Given the description of an element on the screen output the (x, y) to click on. 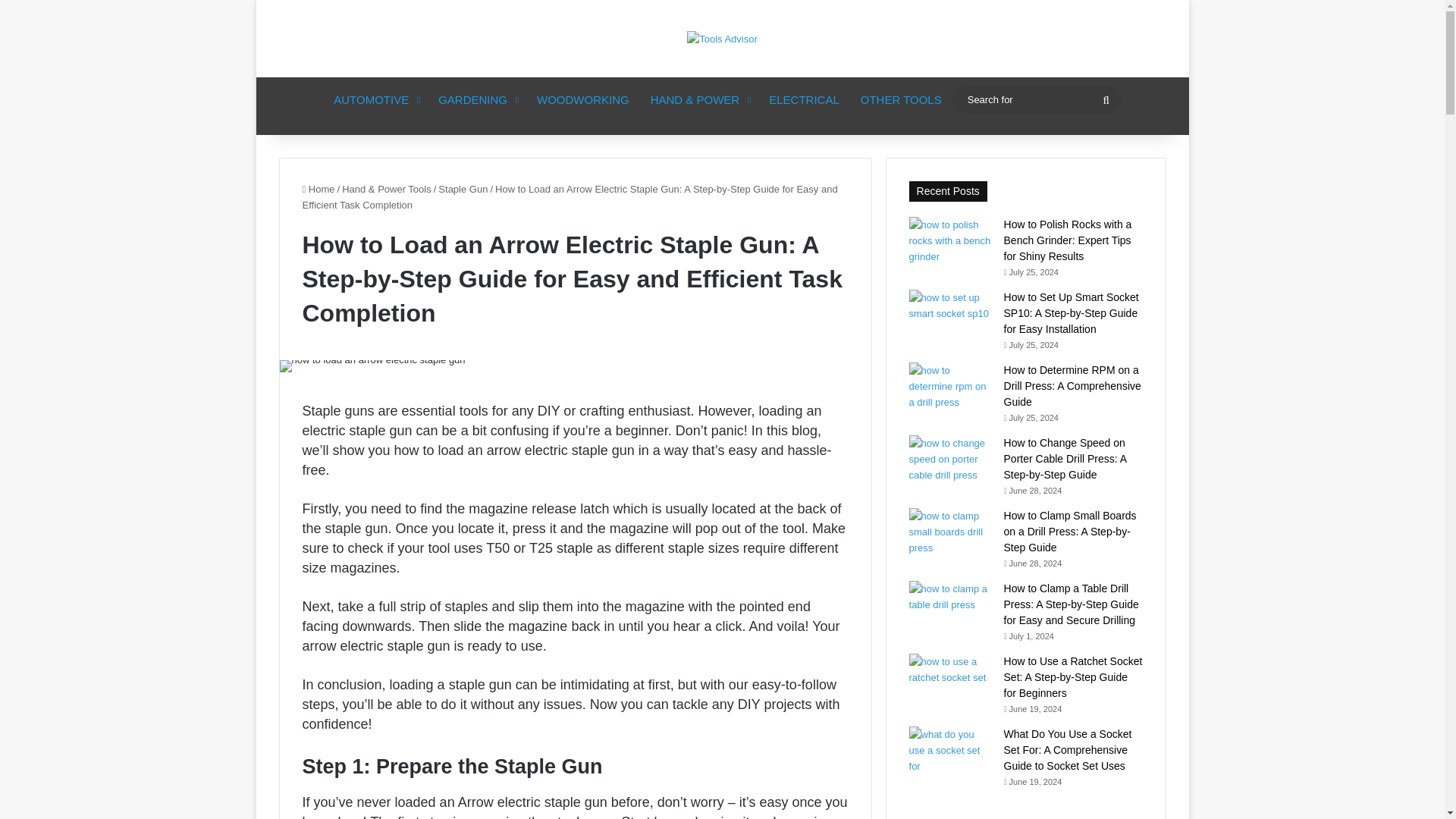
Staple Gun (462, 188)
WOODWORKING (582, 99)
ELECTRICAL (804, 99)
OTHER TOOLS (901, 99)
GARDENING (476, 99)
AUTOMOTIVE (375, 99)
Search for (1036, 99)
Home (317, 188)
how to load an arrow electric staple gun (371, 366)
how to polish rocks with a bench grinder (950, 240)
